Given the description of an element on the screen output the (x, y) to click on. 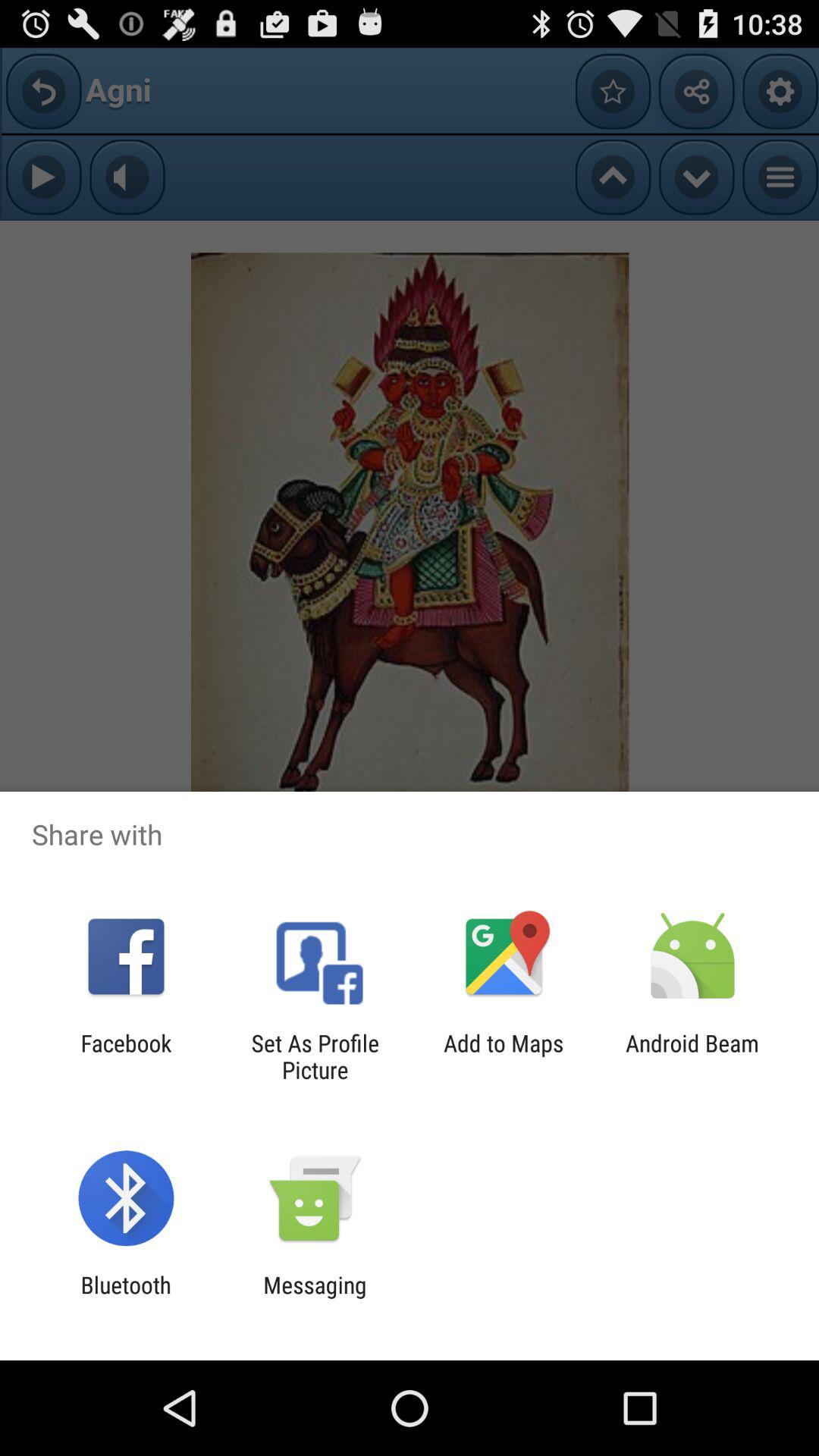
open the icon next to add to maps item (692, 1056)
